Given the description of an element on the screen output the (x, y) to click on. 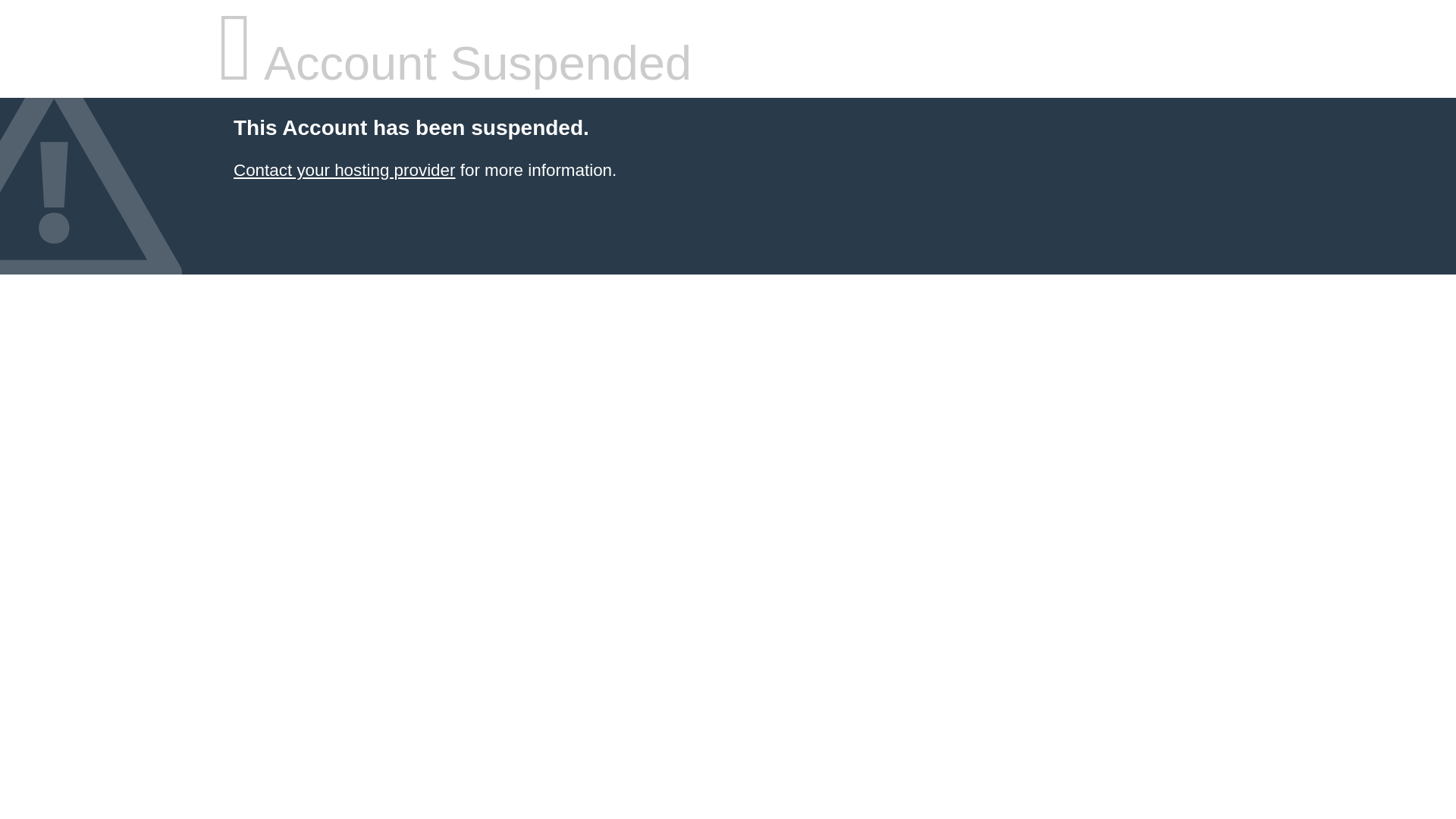
Contact your hosting provider (343, 169)
